Given the description of an element on the screen output the (x, y) to click on. 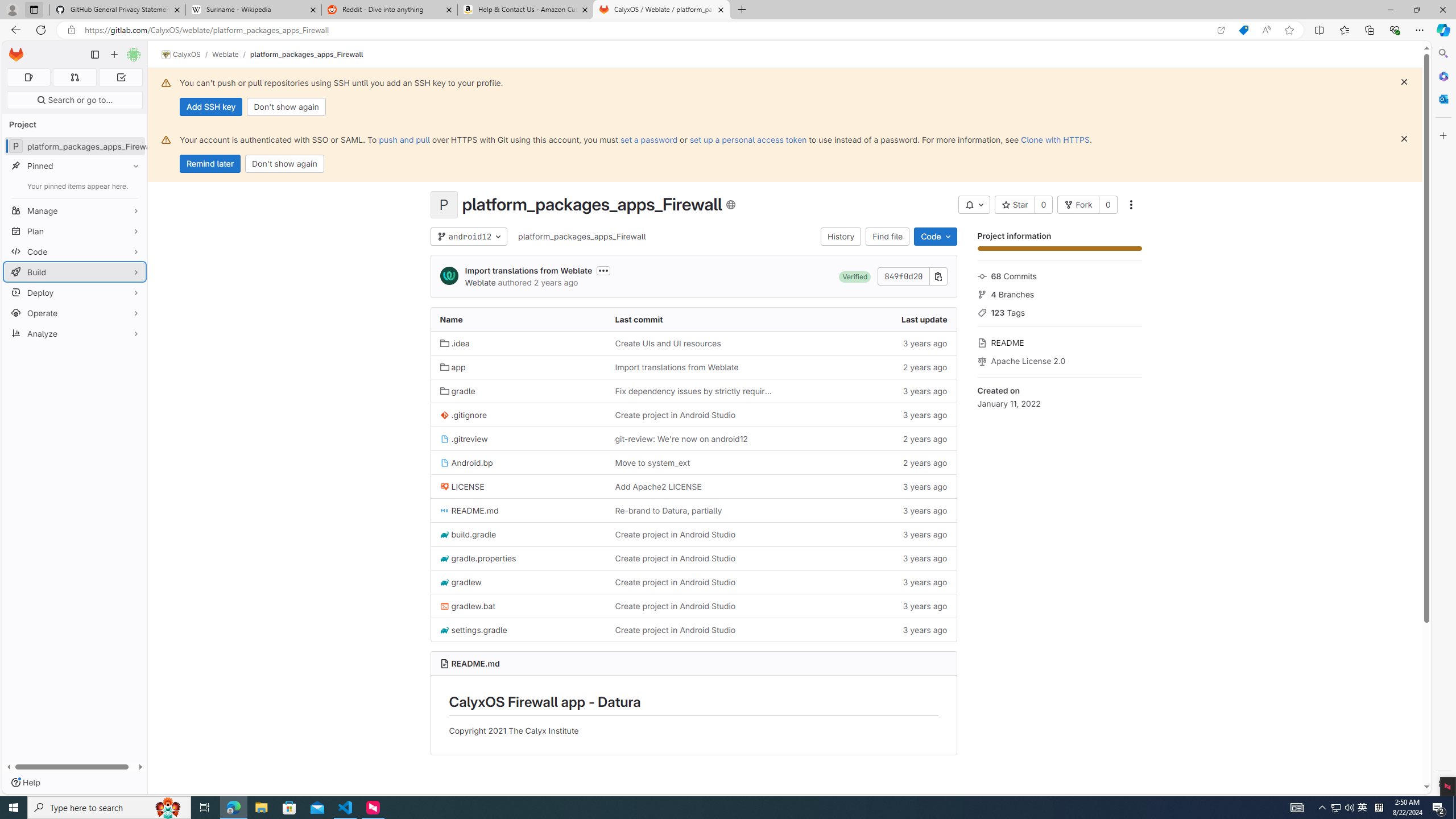
Weblate/ (231, 53)
gradlew (460, 581)
68 Commits (1058, 274)
68 Commits (1058, 274)
Plan (74, 230)
.gitignore (462, 414)
Pplatform_packages_apps_Firewall (74, 145)
README (1058, 341)
Suriname - Wikipedia (253, 9)
Help & Contact Us - Amazon Customer Service (525, 9)
4 Branches (1058, 293)
History (840, 236)
